Given the description of an element on the screen output the (x, y) to click on. 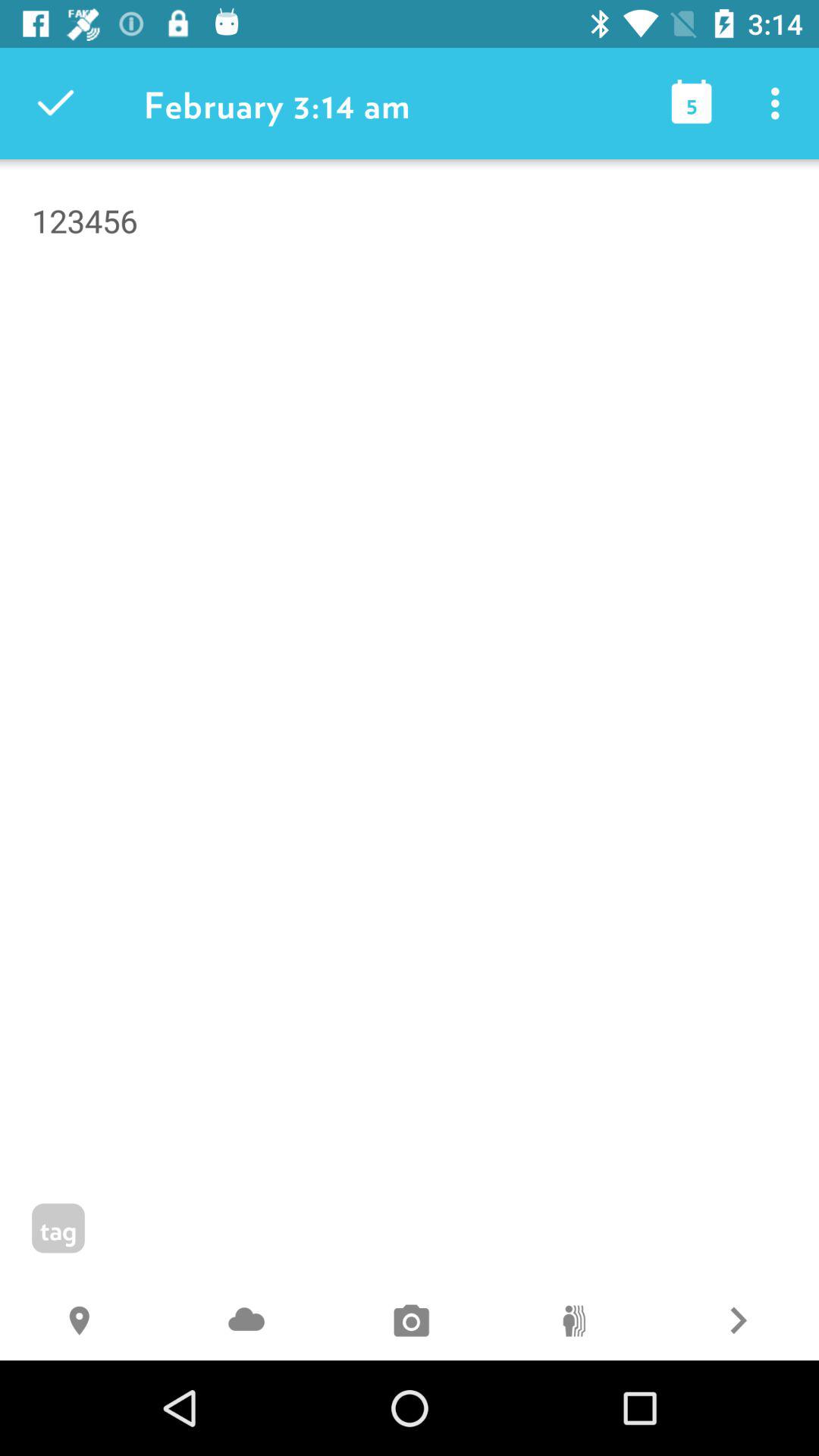
turn off j icon (245, 1322)
